Given the description of an element on the screen output the (x, y) to click on. 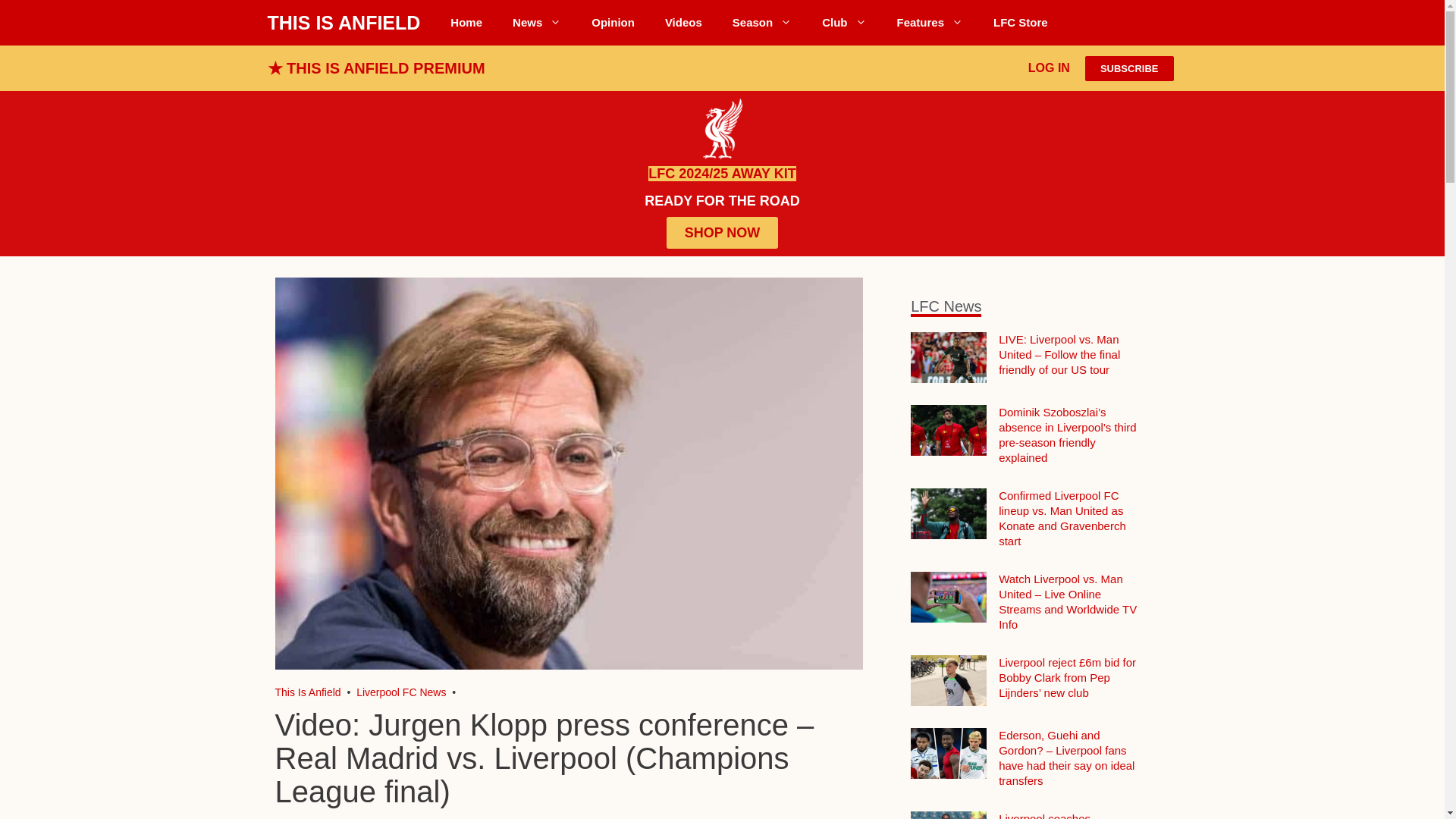
THIS IS ANFIELD (343, 22)
Club (843, 22)
Home (466, 22)
Features (929, 22)
Opinion (612, 22)
News (536, 22)
Liverpool FC Opinion (612, 22)
Liverpool FC News (536, 22)
Liverpool FC Videos (683, 22)
Liverpool FC Features (929, 22)
Liverpool FC (307, 692)
Go to the Liverpool FC News category archives. (400, 692)
Season (761, 22)
Videos (683, 22)
